Given the description of an element on the screen output the (x, y) to click on. 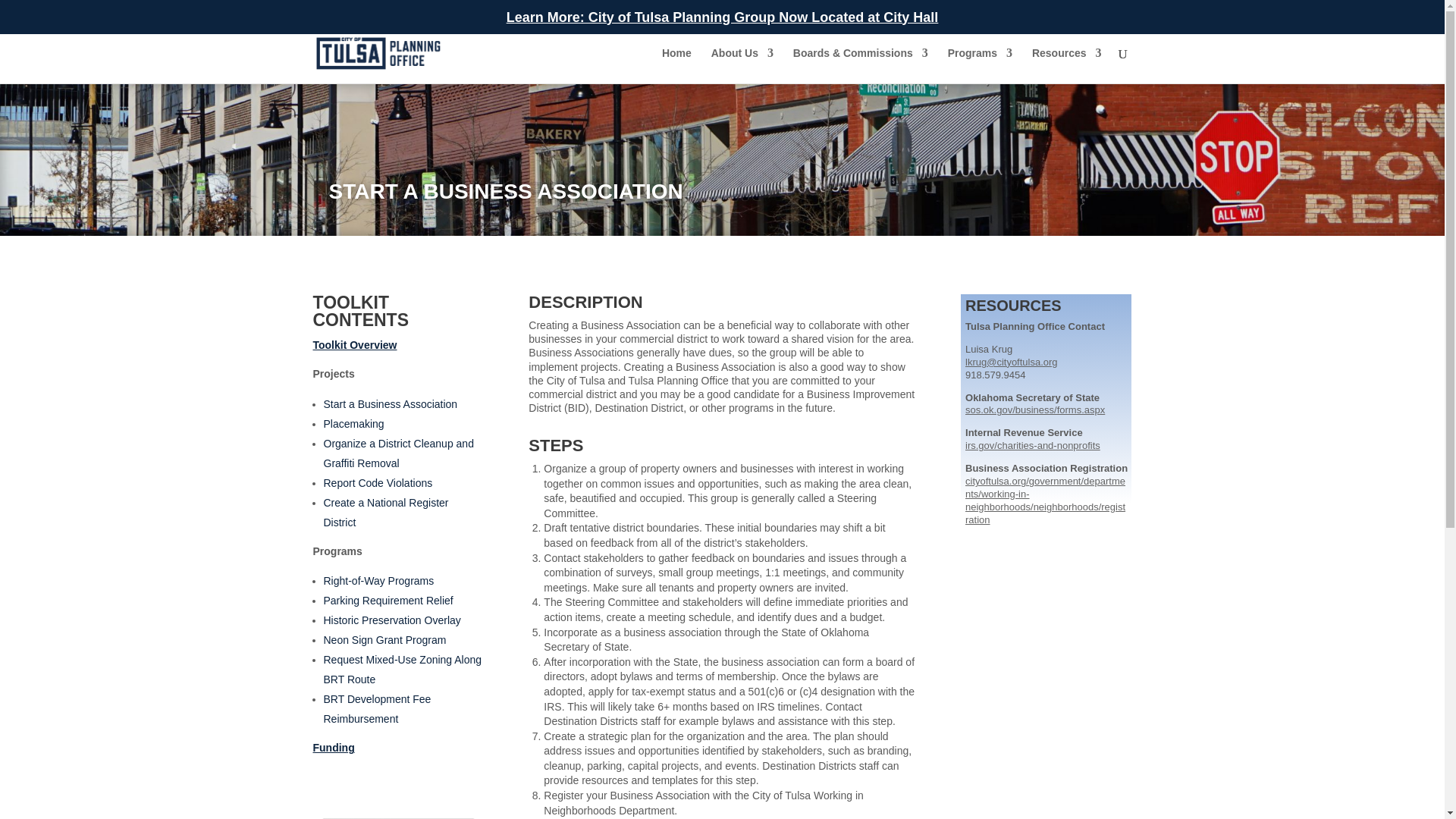
Commercial Toolkit (398, 814)
About Us (742, 65)
Programs (979, 65)
